Given the description of an element on the screen output the (x, y) to click on. 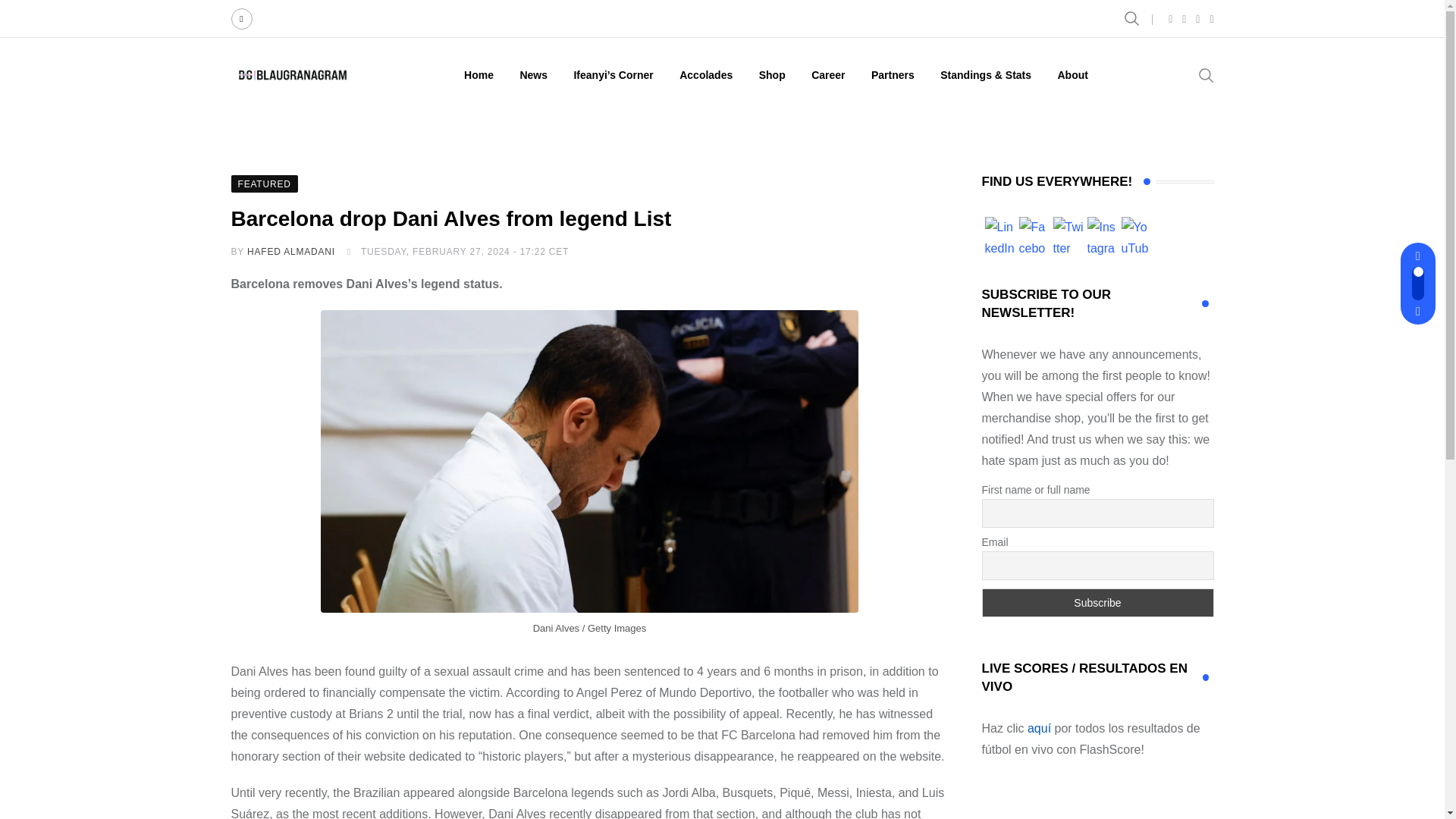
Search (1133, 17)
Subscribe (1096, 602)
Posts by Hafed Almadani (290, 251)
Search (1205, 74)
Accolades (706, 74)
